Given the description of an element on the screen output the (x, y) to click on. 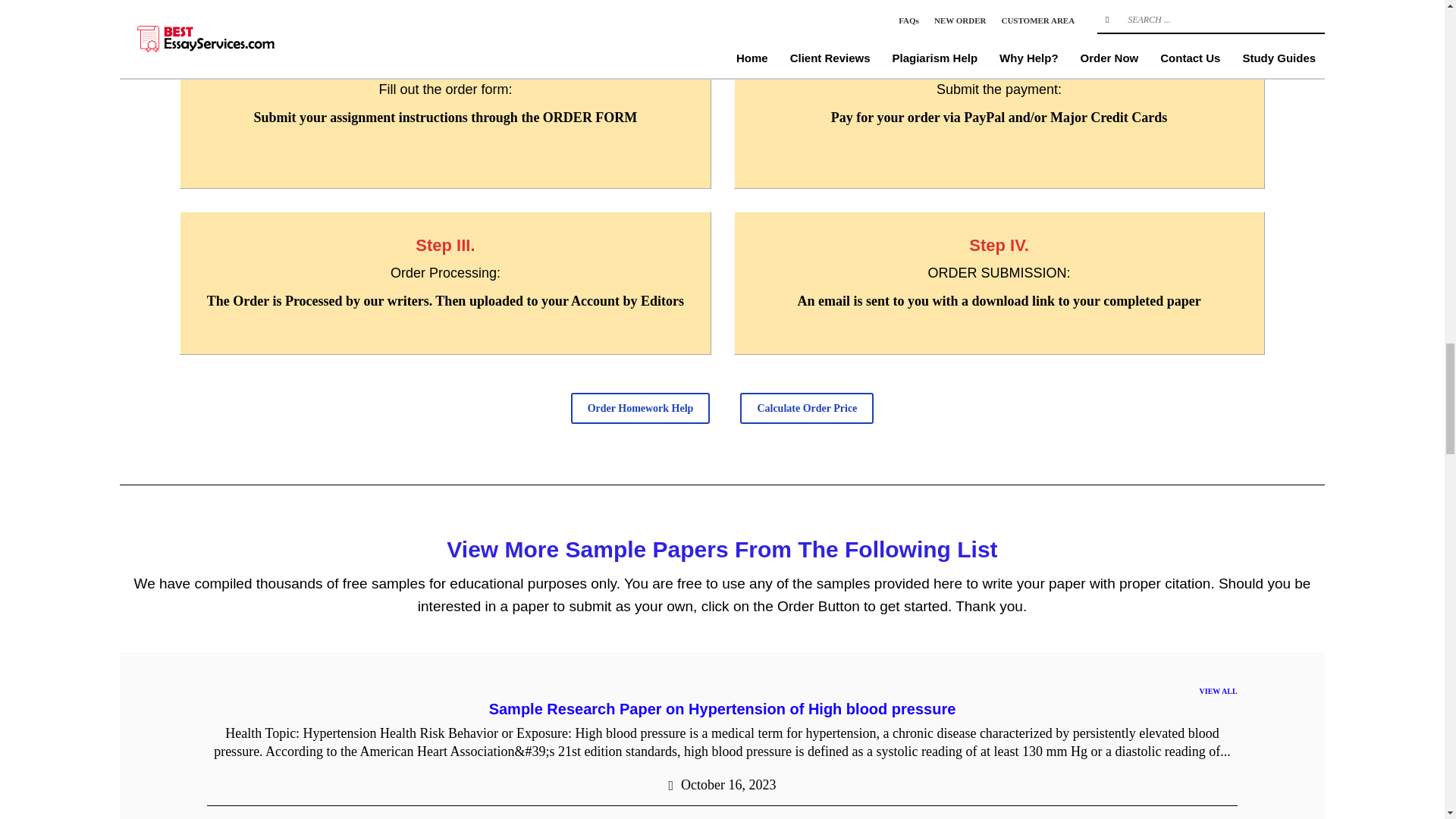
Calculate Order Price (806, 408)
VIEW ALL (1218, 691)
Sample Research Paper on Hypertension of High blood pressure (722, 709)
Order Homework Help (640, 408)
